Given the description of an element on the screen output the (x, y) to click on. 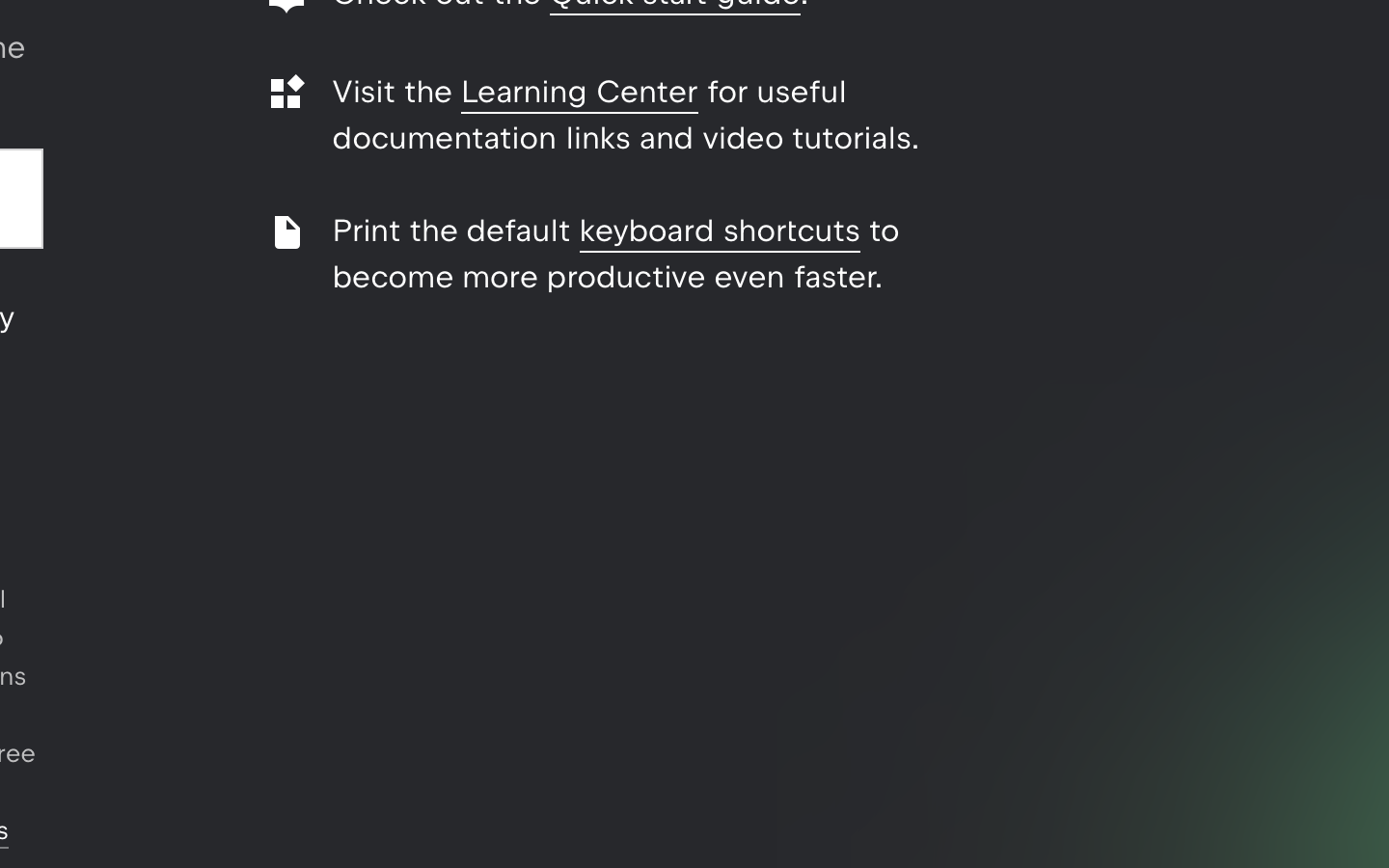
Visit the Element type: AXStaticText (397, 91)
